Given the description of an element on the screen output the (x, y) to click on. 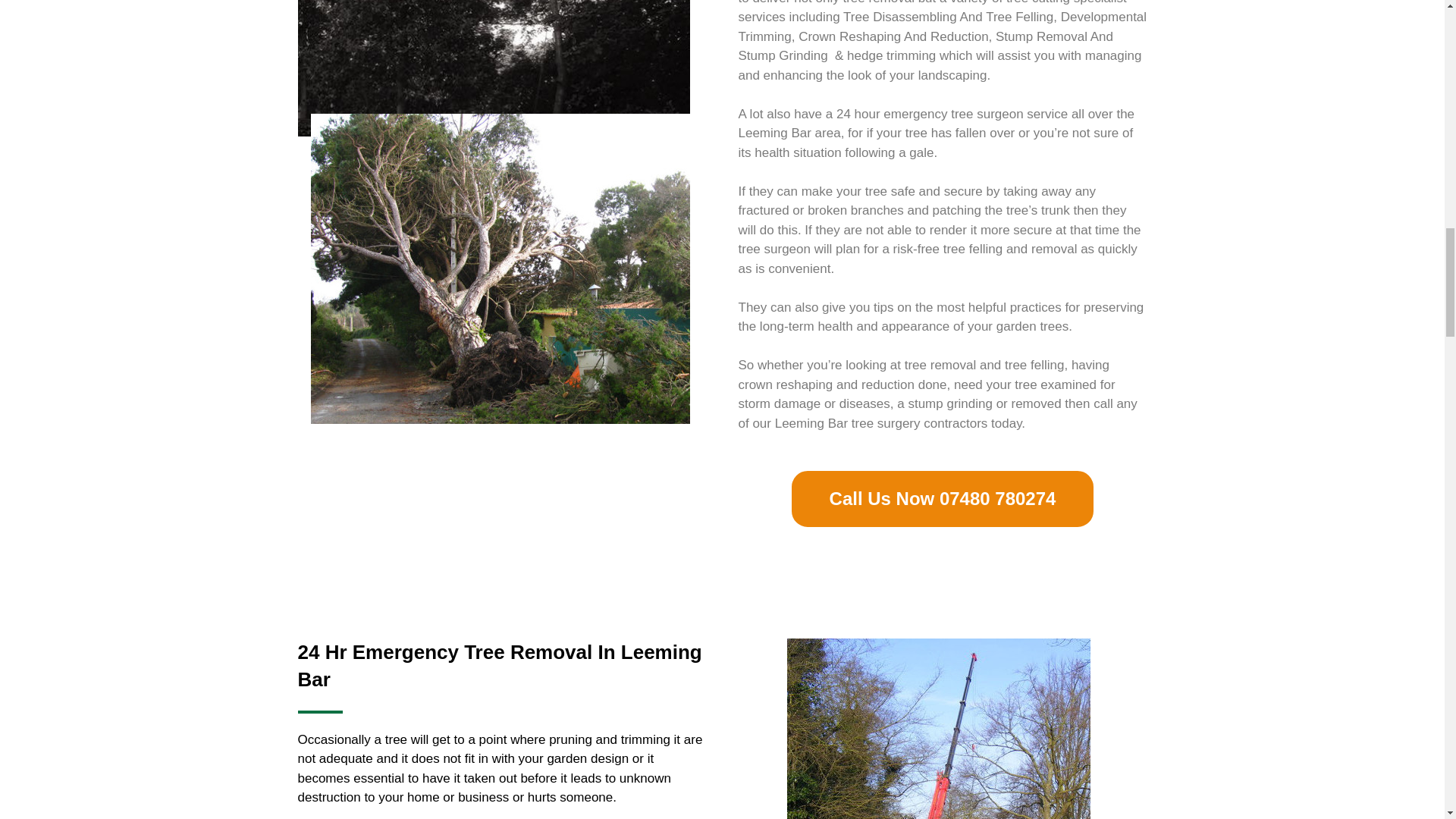
Call Us Now 07480 780274 (943, 498)
24 Hr Emergency Tree Removal In Leeming Bar (499, 665)
